Given the description of an element on the screen output the (x, y) to click on. 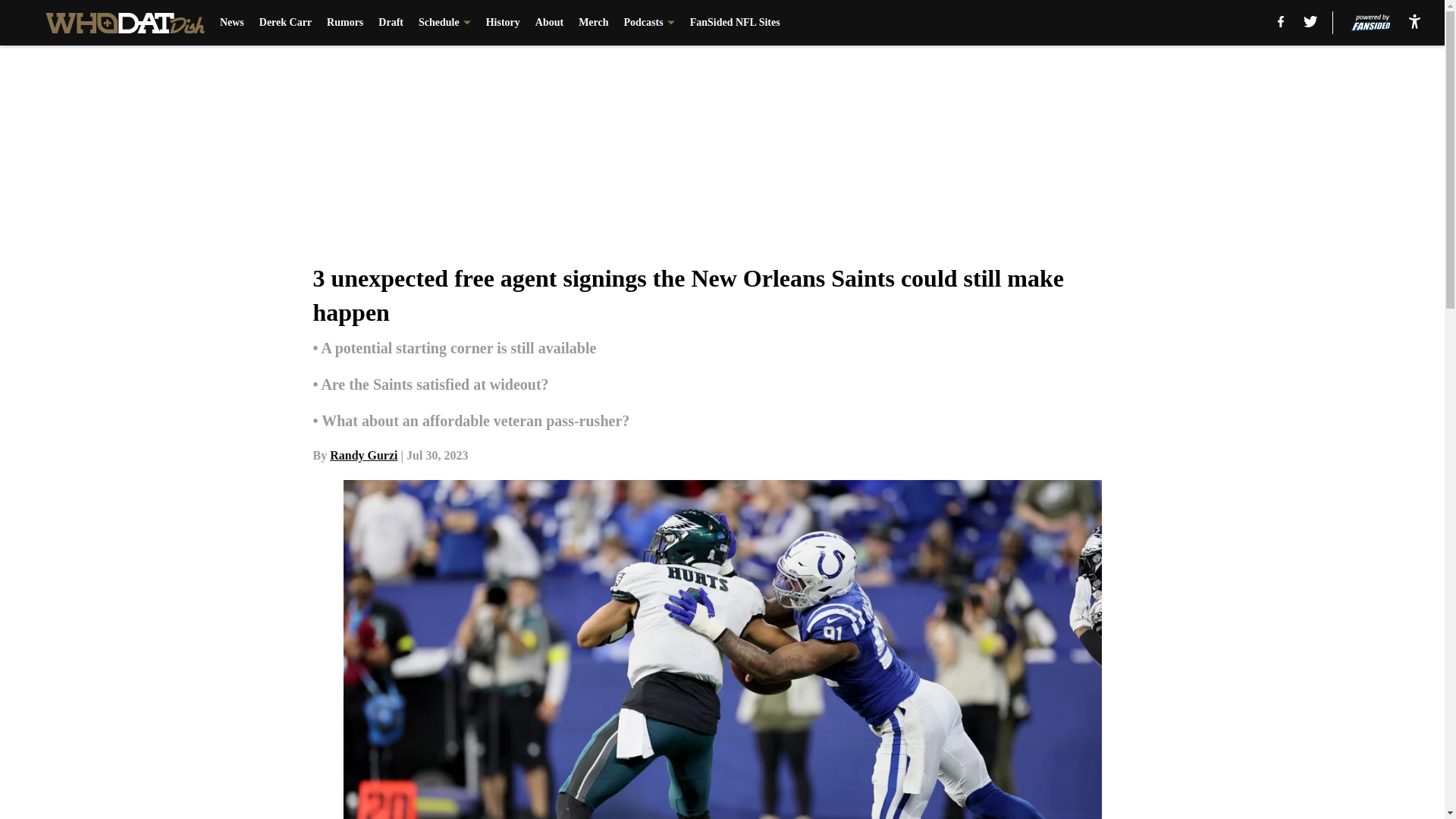
News (231, 22)
Merch (593, 22)
Derek Carr (285, 22)
About (549, 22)
History (502, 22)
Rumors (344, 22)
Draft (390, 22)
Randy Gurzi (363, 454)
FanSided NFL Sites (735, 22)
